Given the description of an element on the screen output the (x, y) to click on. 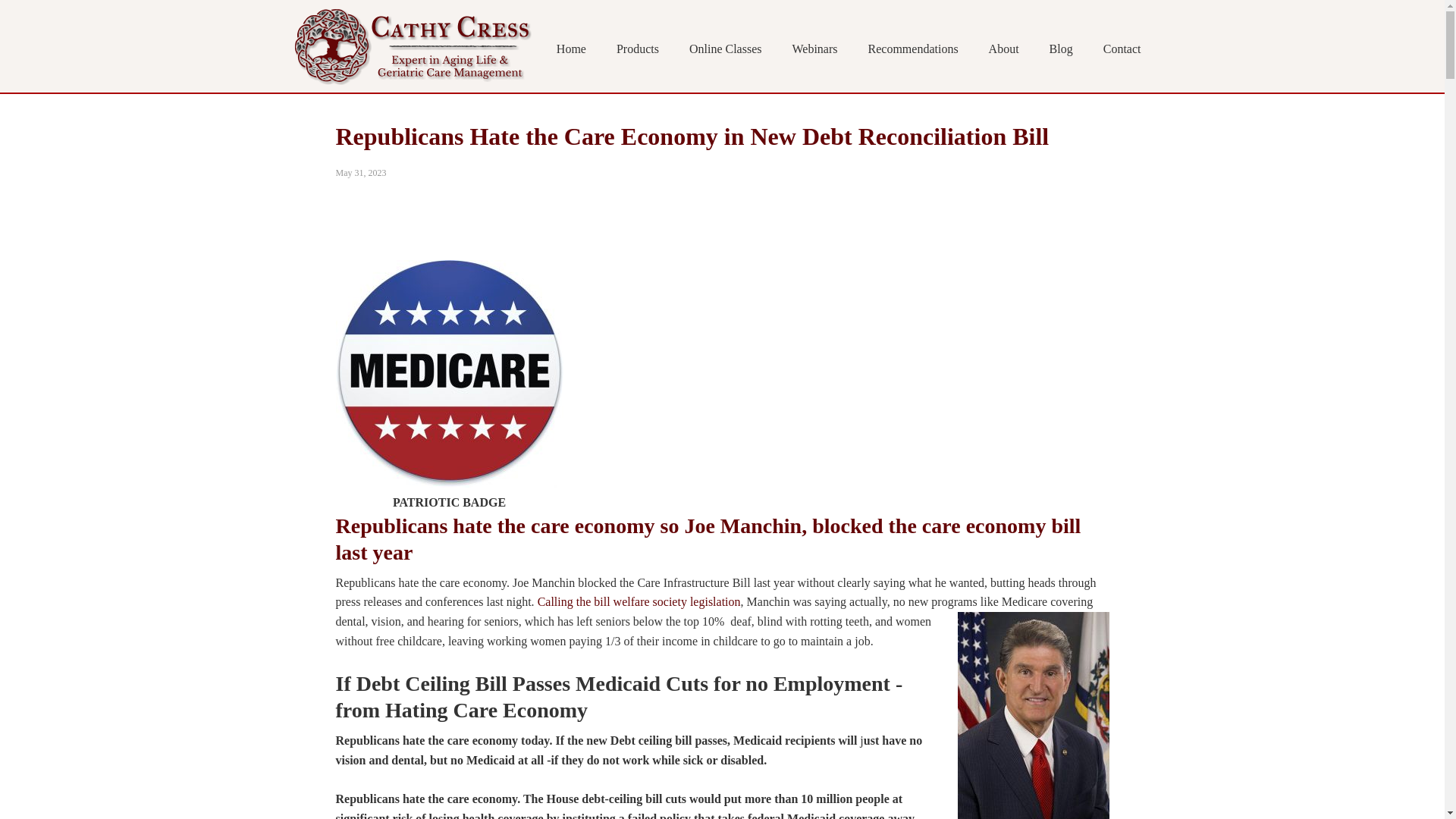
Webinars (813, 49)
Online Classes (725, 49)
Cathy Cress (410, 45)
Products (637, 49)
Calling the bill welfare society legislation (639, 601)
Recommendations (913, 49)
